Given the description of an element on the screen output the (x, y) to click on. 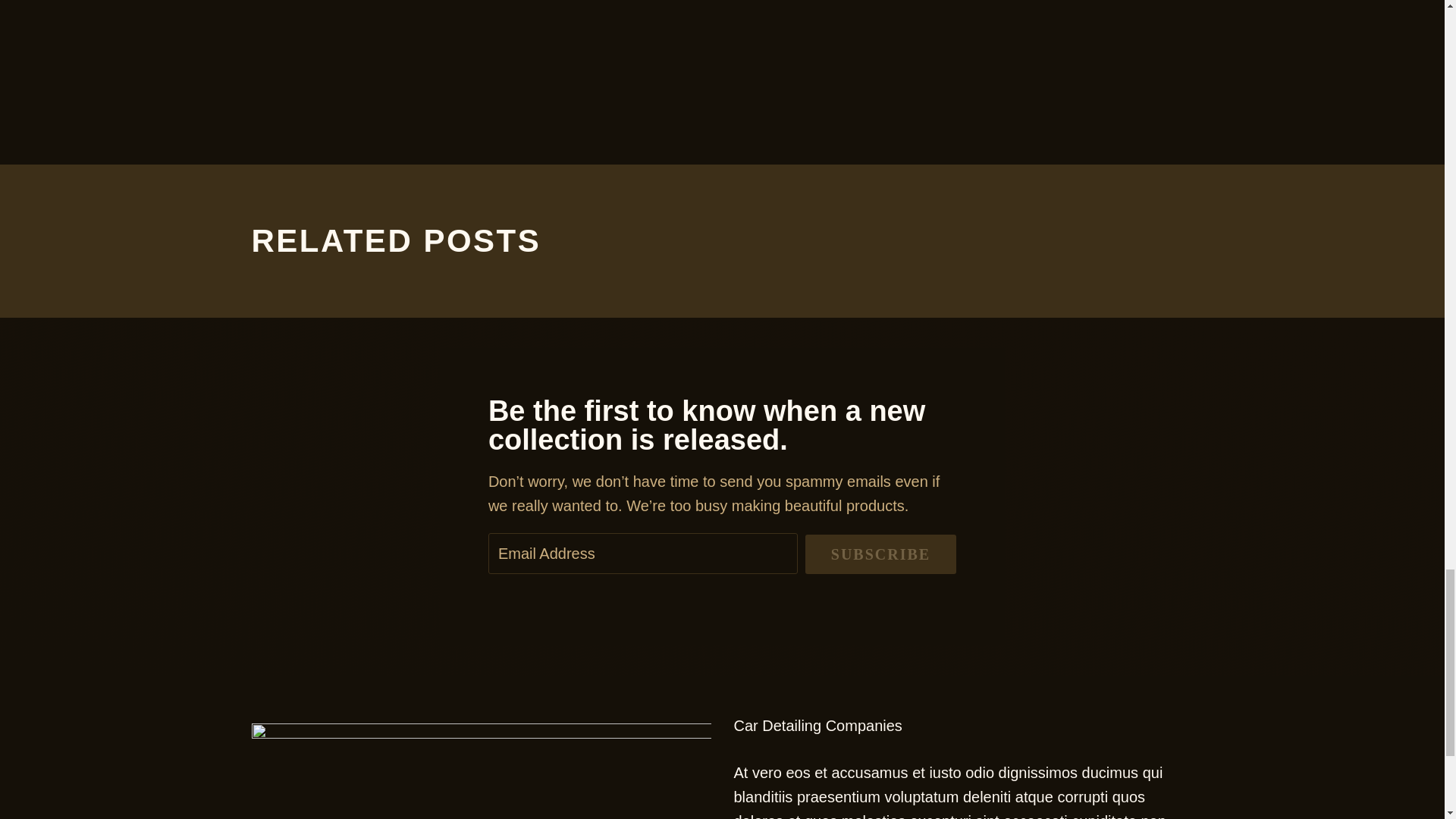
SUBSCRIBE (880, 554)
